Given the description of an element on the screen output the (x, y) to click on. 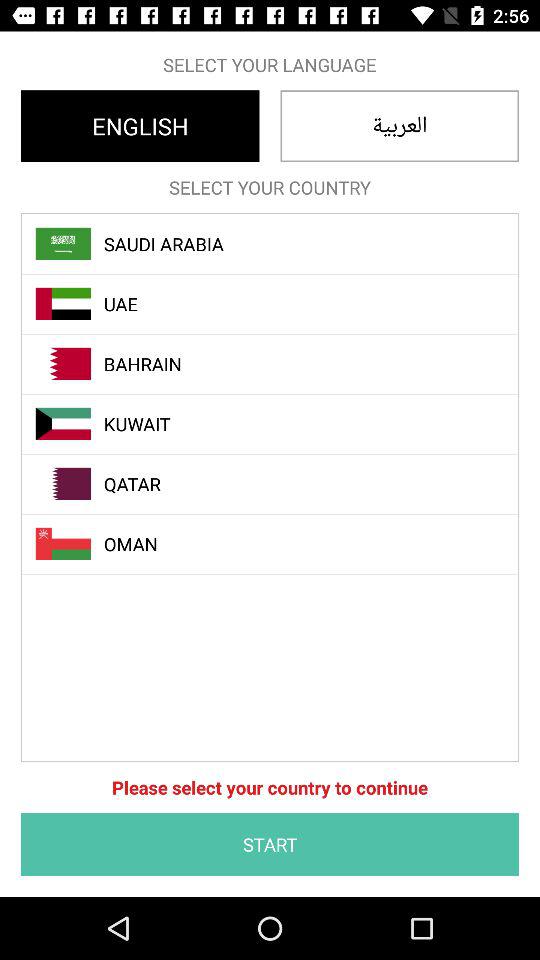
scroll until the oman item (281, 543)
